Given the description of an element on the screen output the (x, y) to click on. 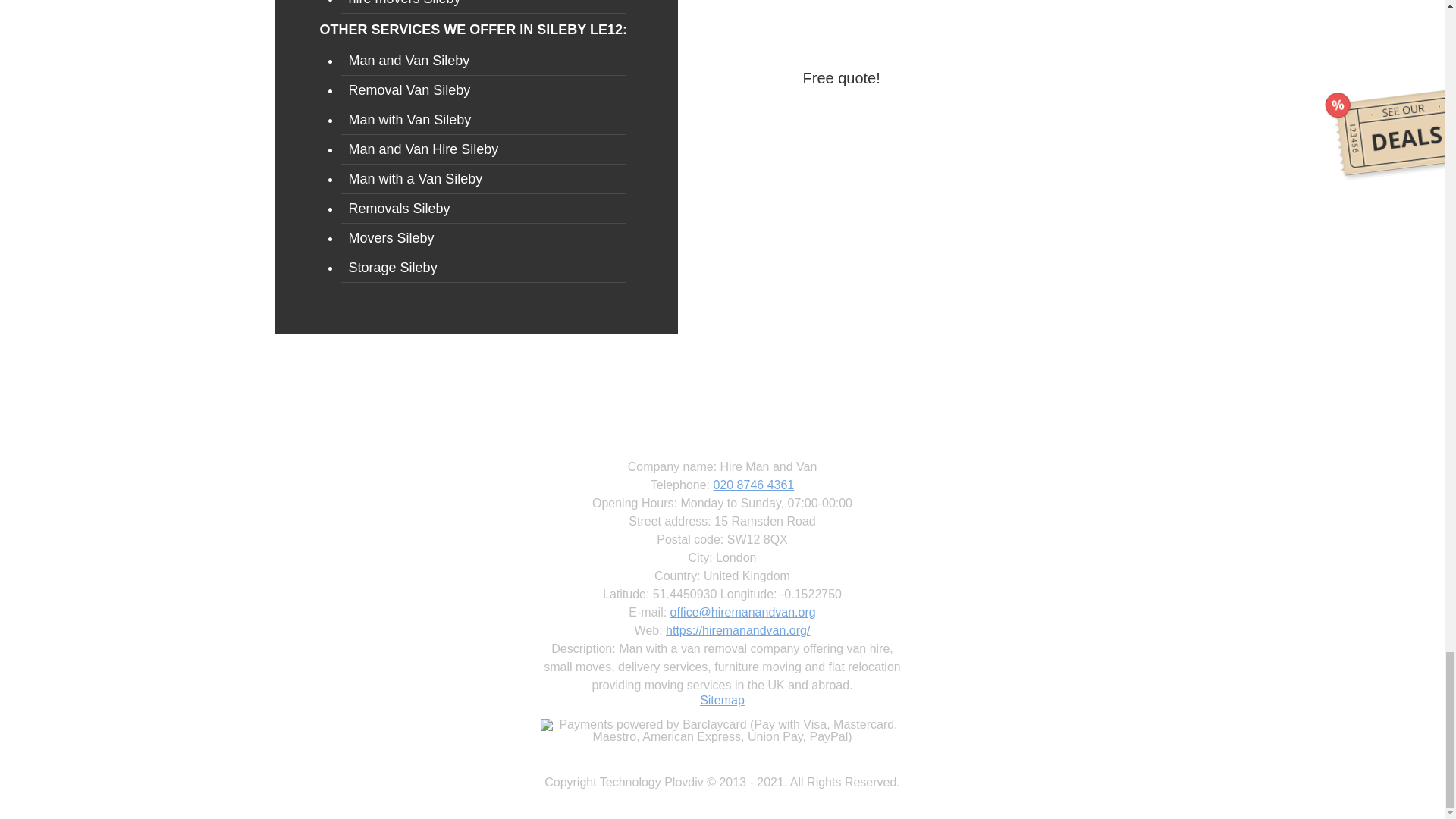
Send E-mail (742, 612)
